Given the description of an element on the screen output the (x, y) to click on. 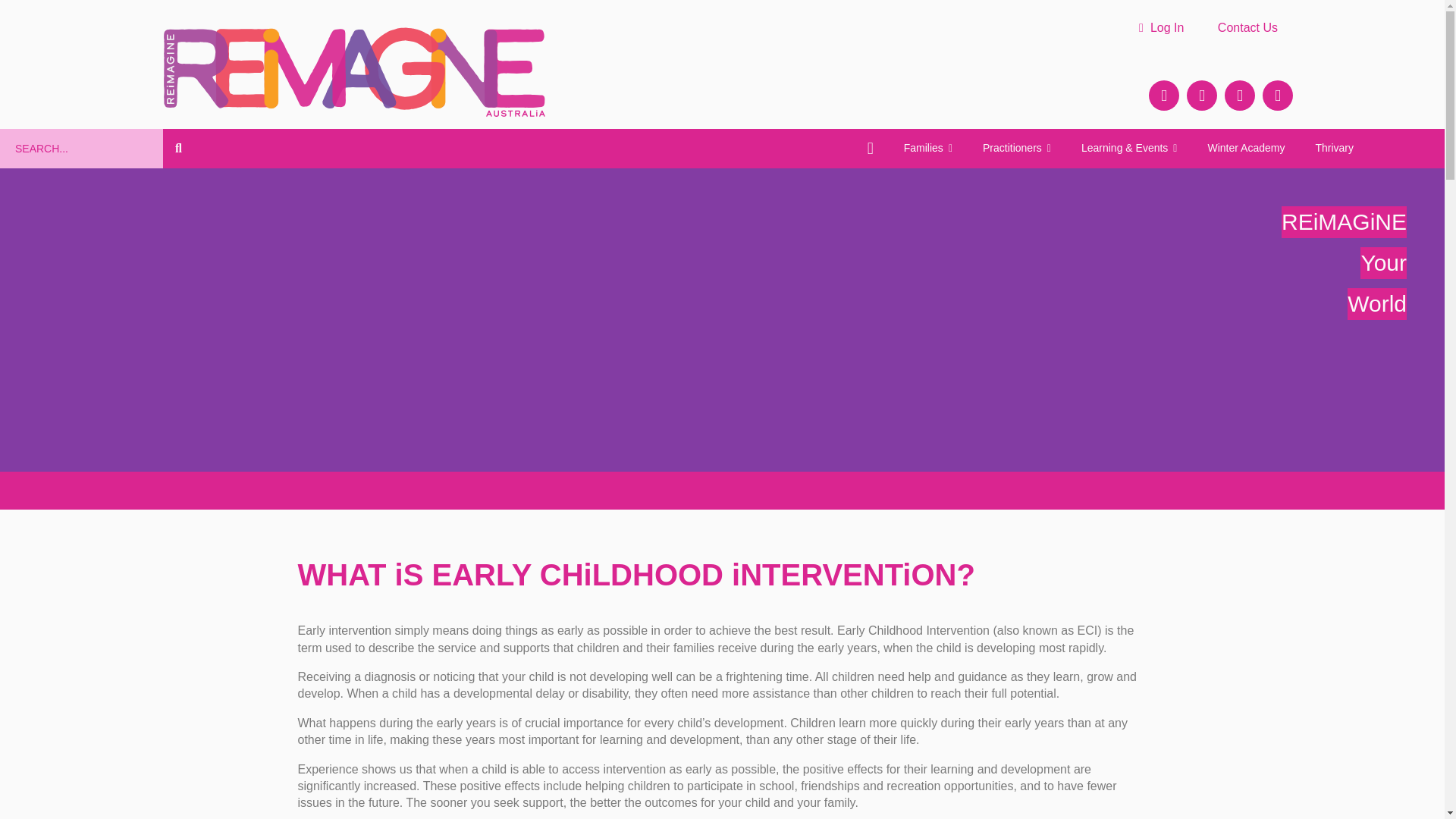
Log In (1161, 28)
Families (928, 148)
Contact Us (1247, 28)
Thrivary (1334, 148)
Winter Academy (1246, 148)
Practitioners (1016, 148)
